Given the description of an element on the screen output the (x, y) to click on. 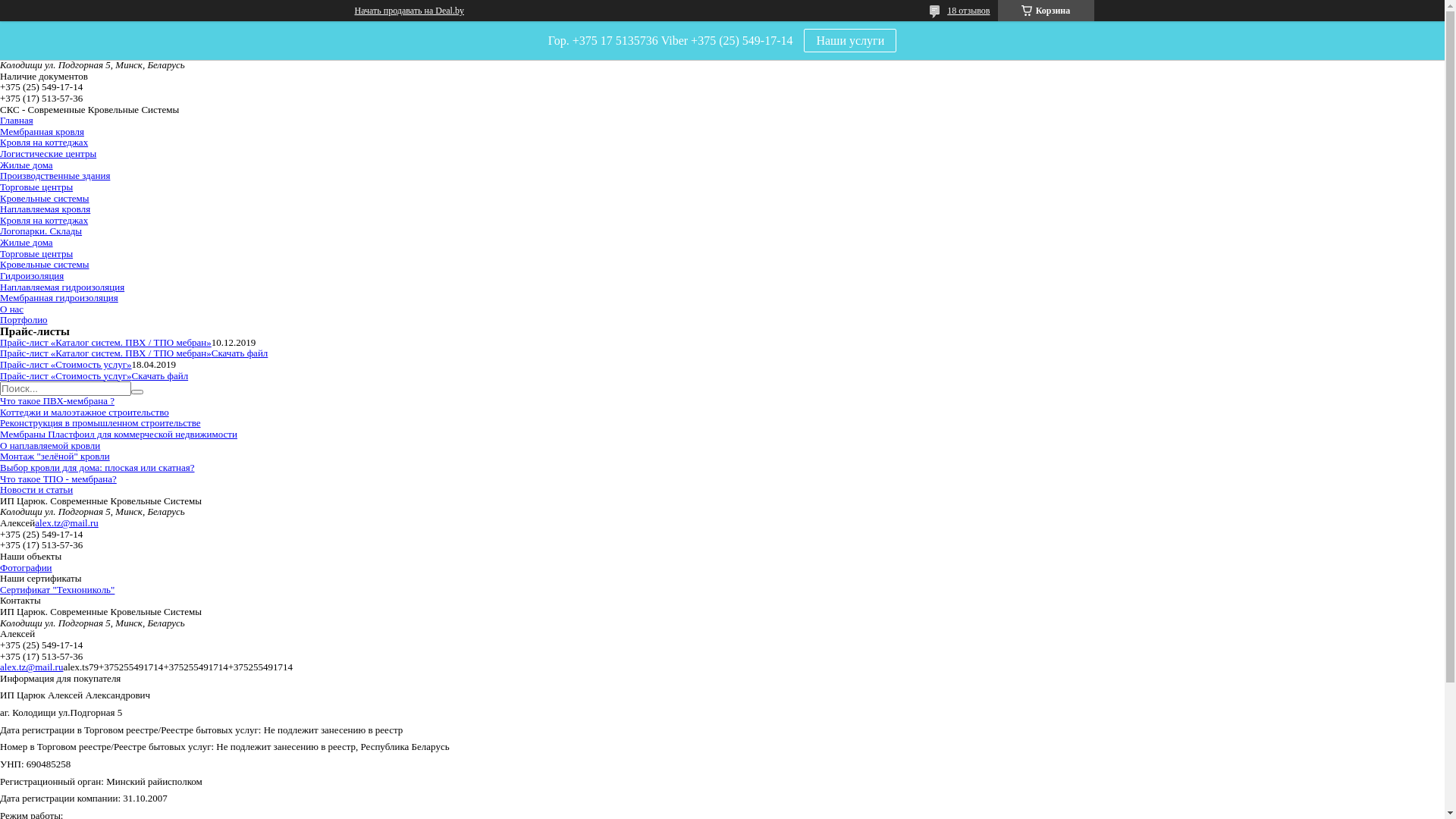
alex.tz@mail.ru Element type: text (65, 522)
alex.tz@mail.ru Element type: text (31, 666)
